Given the description of an element on the screen output the (x, y) to click on. 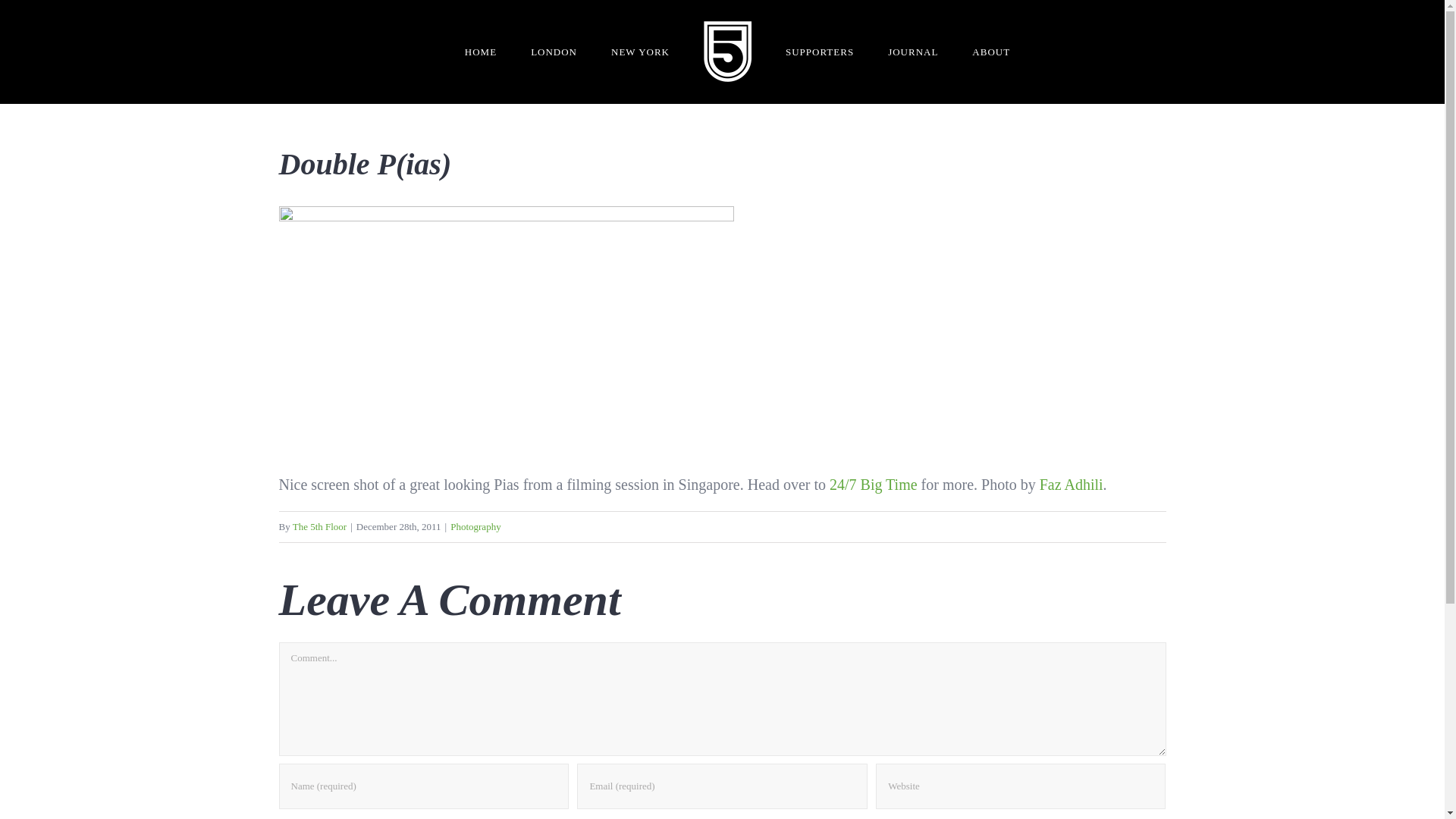
Photography (474, 526)
The 5th Floor (319, 526)
Posts by The 5th Floor (319, 526)
SUPPORTERS (819, 51)
Faz Adhili (1071, 484)
NEW YORK (640, 51)
